Given the description of an element on the screen output the (x, y) to click on. 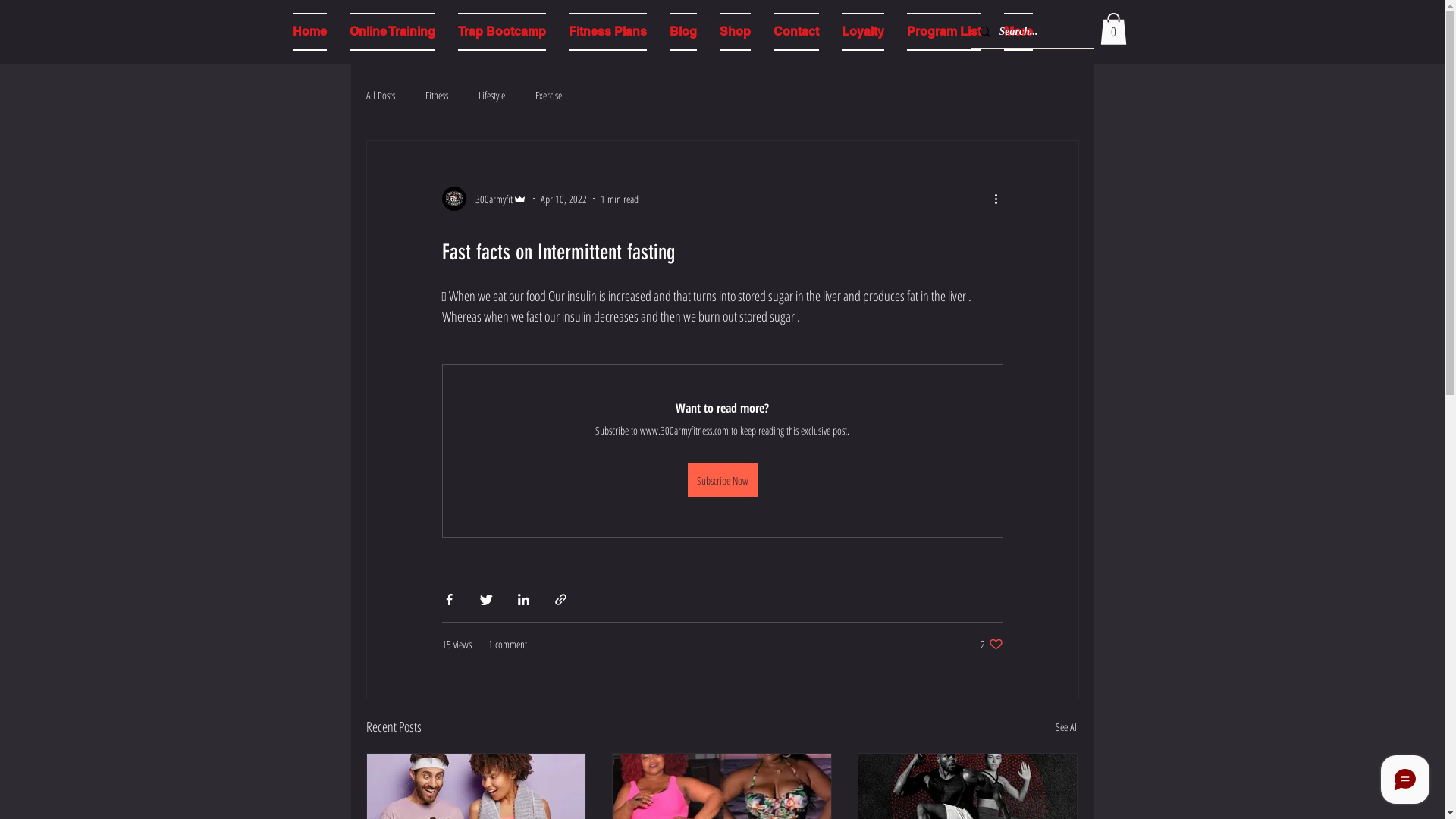
Lifestyle Element type: text (490, 94)
2 likes. Post not marked as liked
2 Element type: text (990, 644)
Exercise Element type: text (548, 94)
Trap Bootcamp Element type: text (500, 31)
Home Element type: text (308, 31)
All Posts Element type: text (379, 94)
See All Element type: text (1067, 726)
0 Element type: text (1112, 28)
Loyalty Element type: text (861, 31)
Fitness Element type: text (435, 94)
Contact Element type: text (795, 31)
Program List Element type: text (942, 31)
Blog Element type: text (683, 31)
Fitness Plans Element type: text (606, 31)
Online Training Element type: text (392, 31)
Shop Element type: text (735, 31)
300armyfit Element type: text (483, 198)
